Given the description of an element on the screen output the (x, y) to click on. 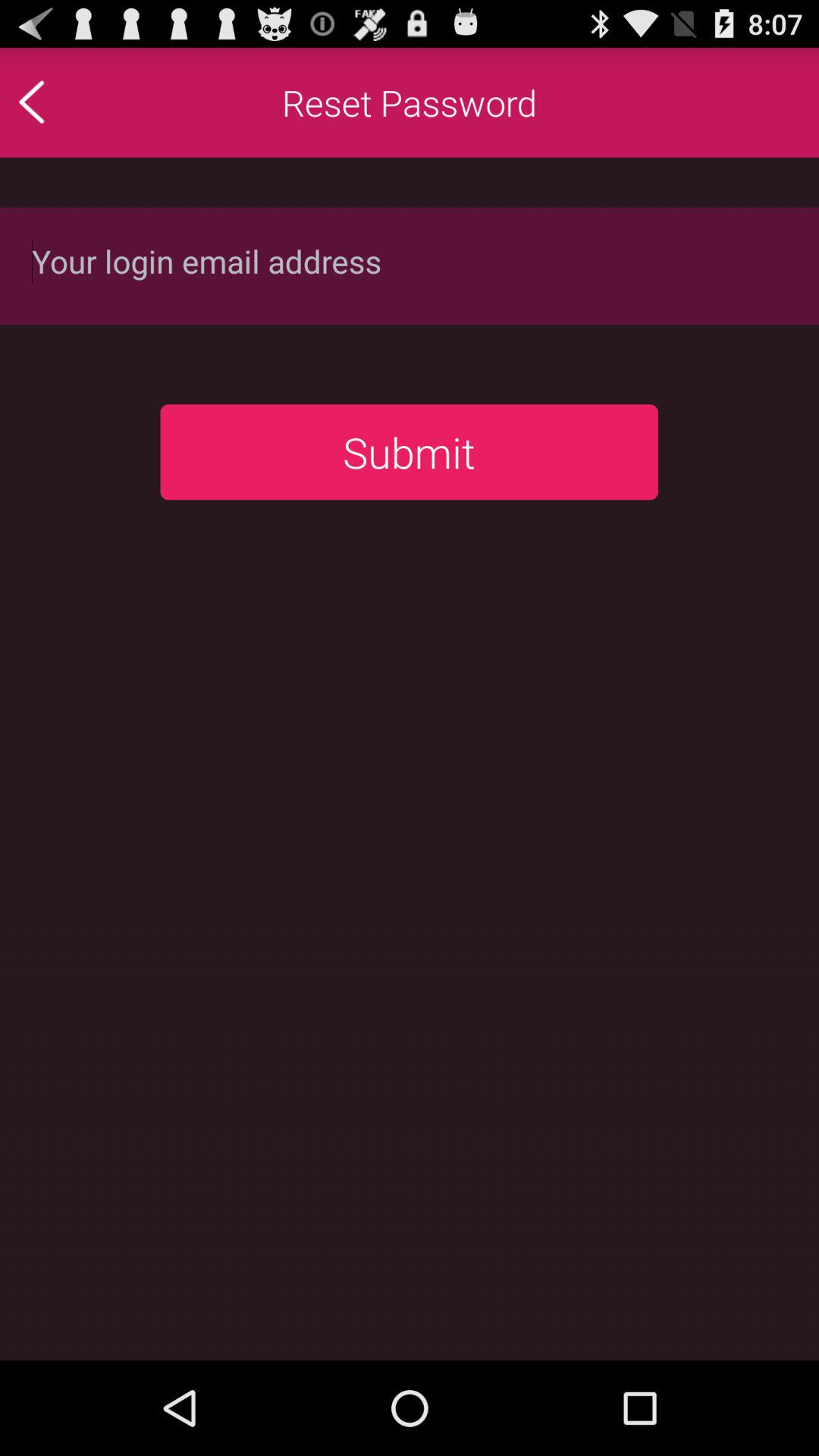
go back (63, 102)
